Given the description of an element on the screen output the (x, y) to click on. 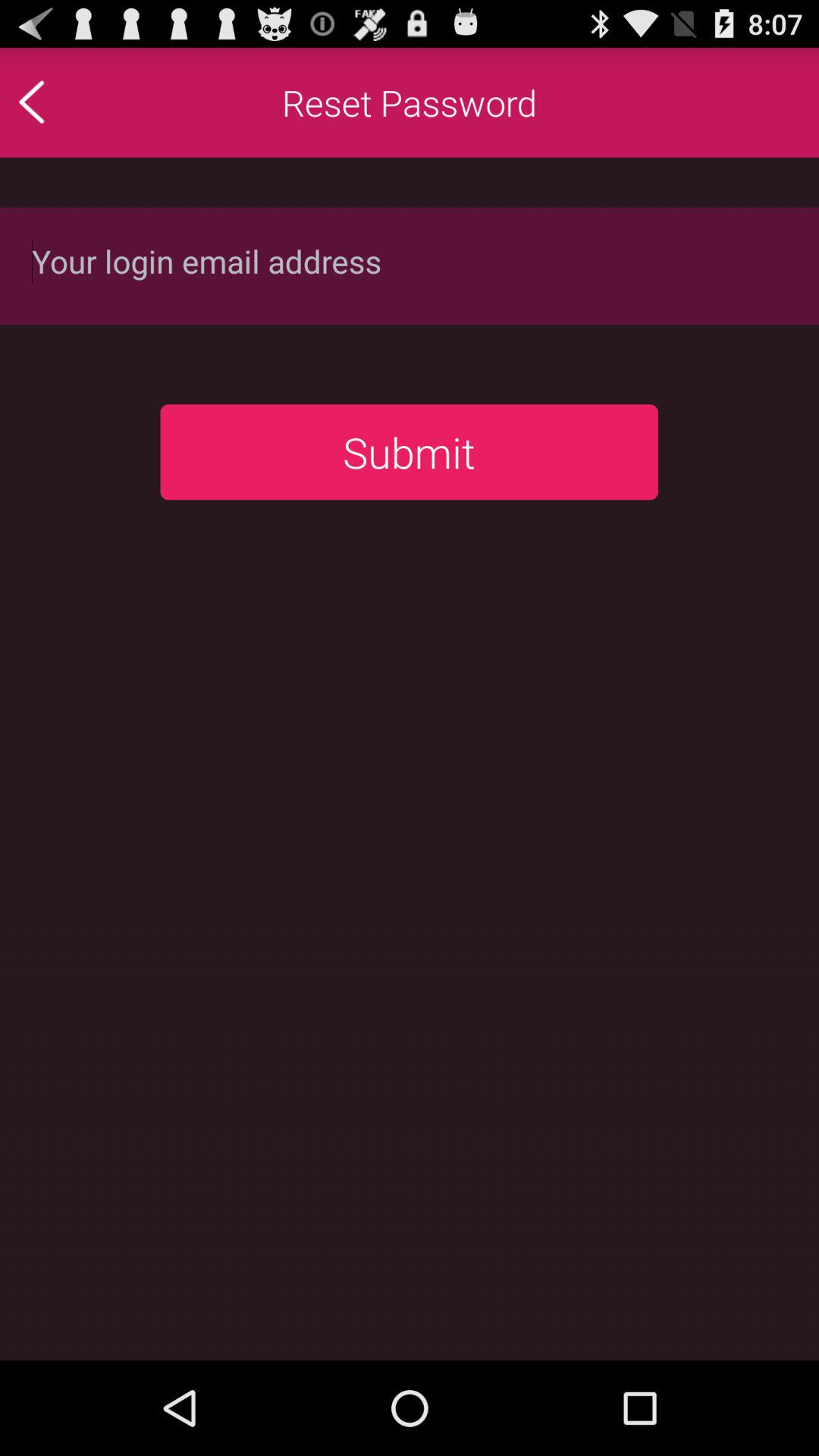
go back (63, 102)
